Given the description of an element on the screen output the (x, y) to click on. 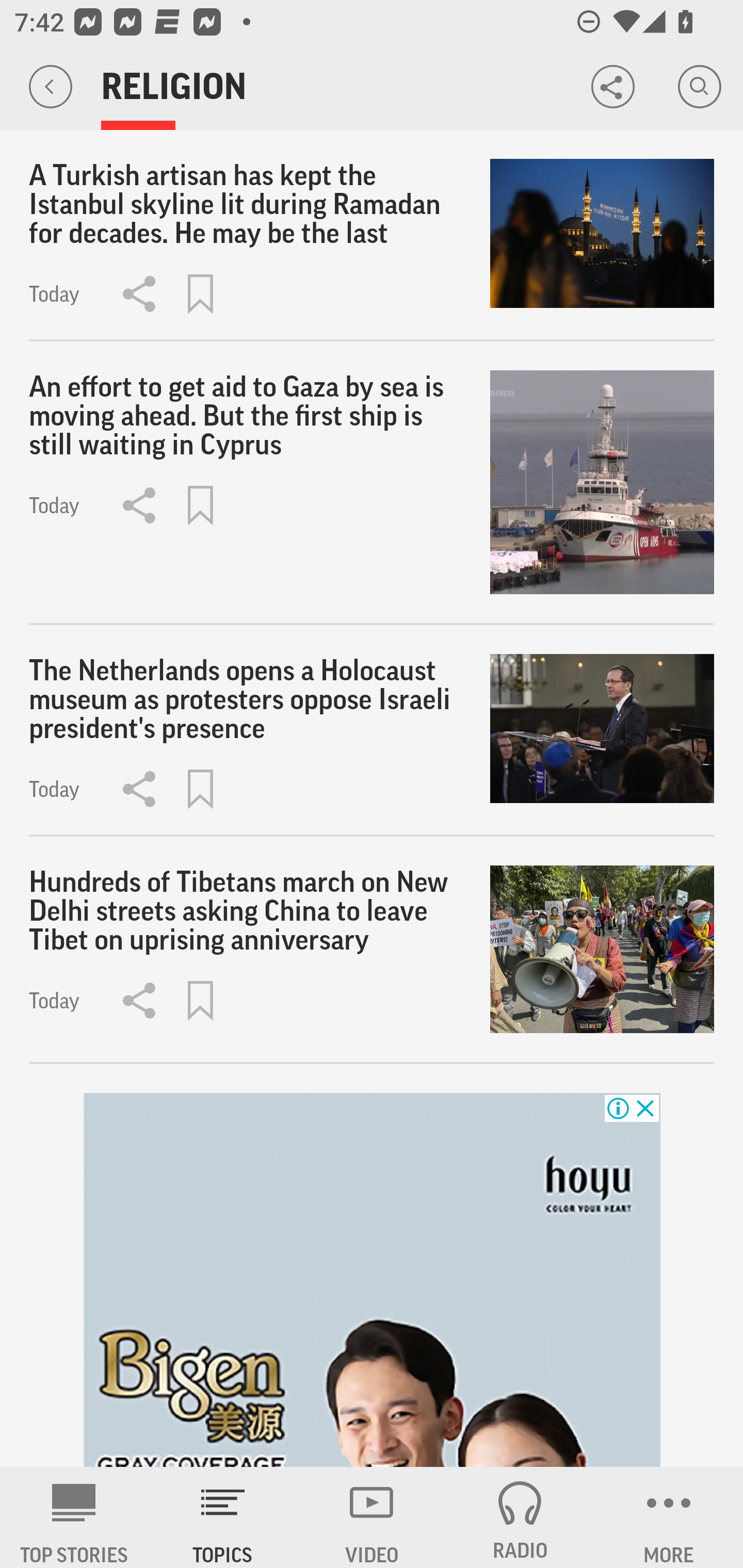
AP News TOP STORIES (74, 1517)
TOPICS (222, 1517)
VIDEO (371, 1517)
RADIO (519, 1517)
MORE (668, 1517)
